Given the description of an element on the screen output the (x, y) to click on. 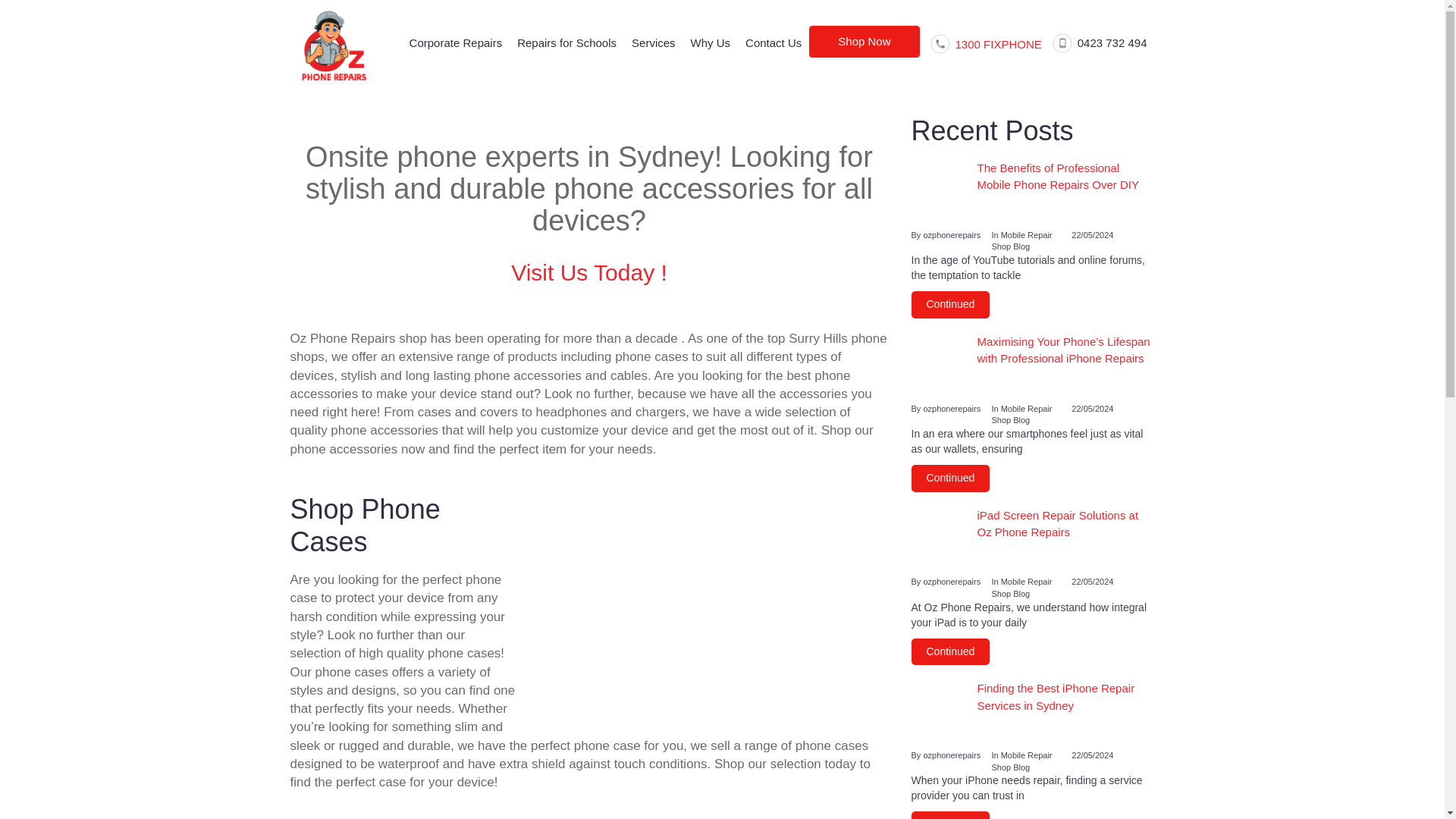
Oz Phone Repairs (333, 45)
1300 FIXPHONE (984, 43)
Continued (950, 651)
The Benefits of Professional Mobile Phone Repairs Over DIY (1032, 194)
Repairs for Schools (566, 42)
Why Us (710, 42)
Corporate Repairs (456, 42)
Continued (950, 304)
Continued (950, 478)
Services (653, 42)
iPad Screen Repair Solutions at Oz Phone Repairs (1032, 541)
0423 732 494 (1101, 42)
Why Us (710, 42)
Continued (950, 815)
Contact Us (773, 42)
